Given the description of an element on the screen output the (x, y) to click on. 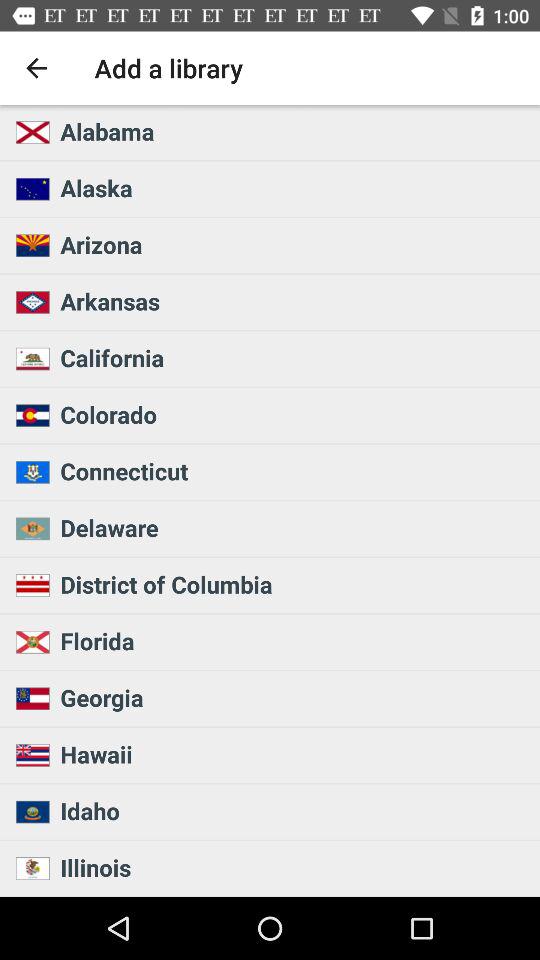
jump until arkansas icon (294, 301)
